Given the description of an element on the screen output the (x, y) to click on. 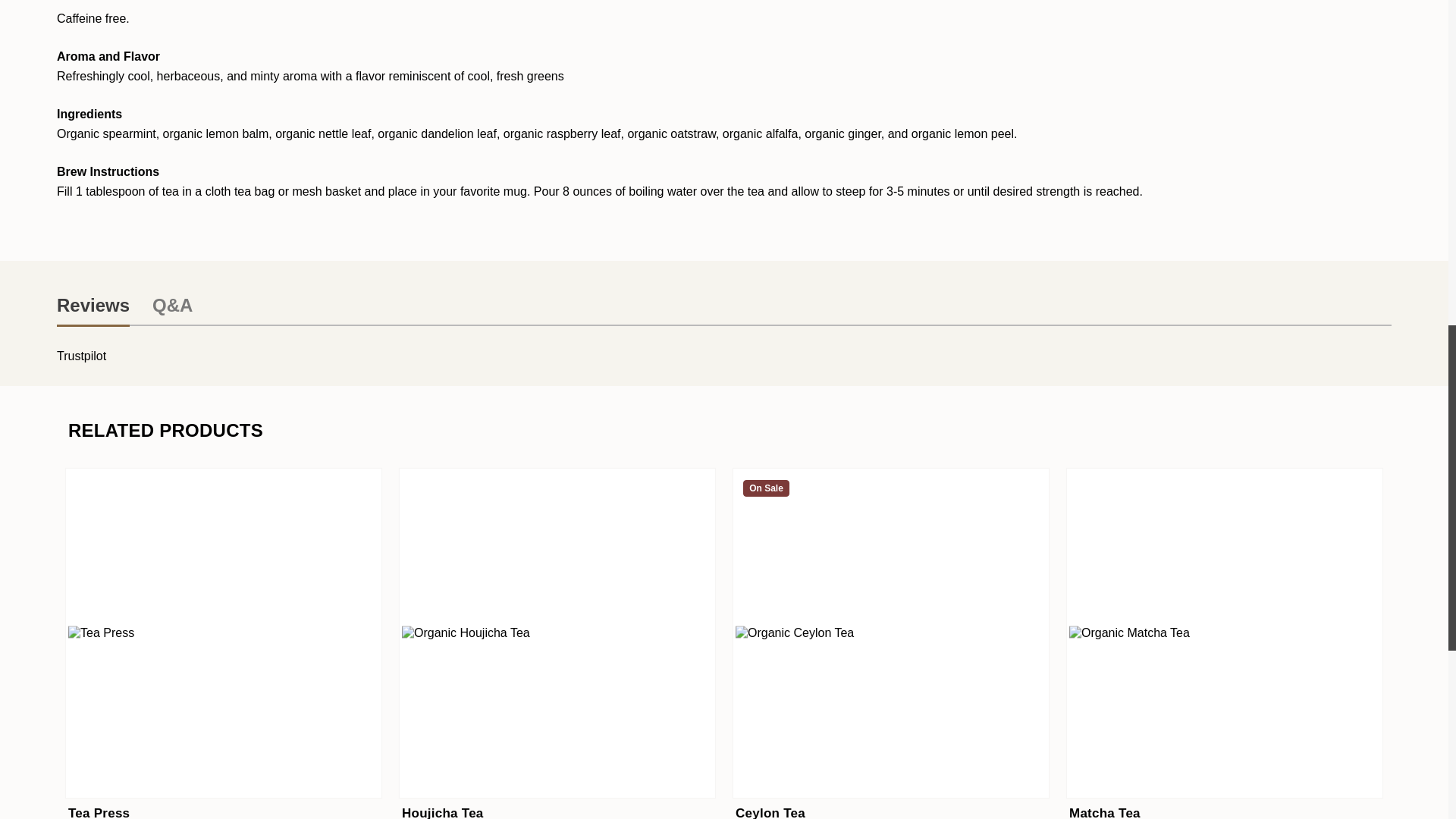
Organic (416, 776)
Tea Press (223, 632)
Kosher (449, 776)
Organic Houjicha Tea (557, 632)
